Given the description of an element on the screen output the (x, y) to click on. 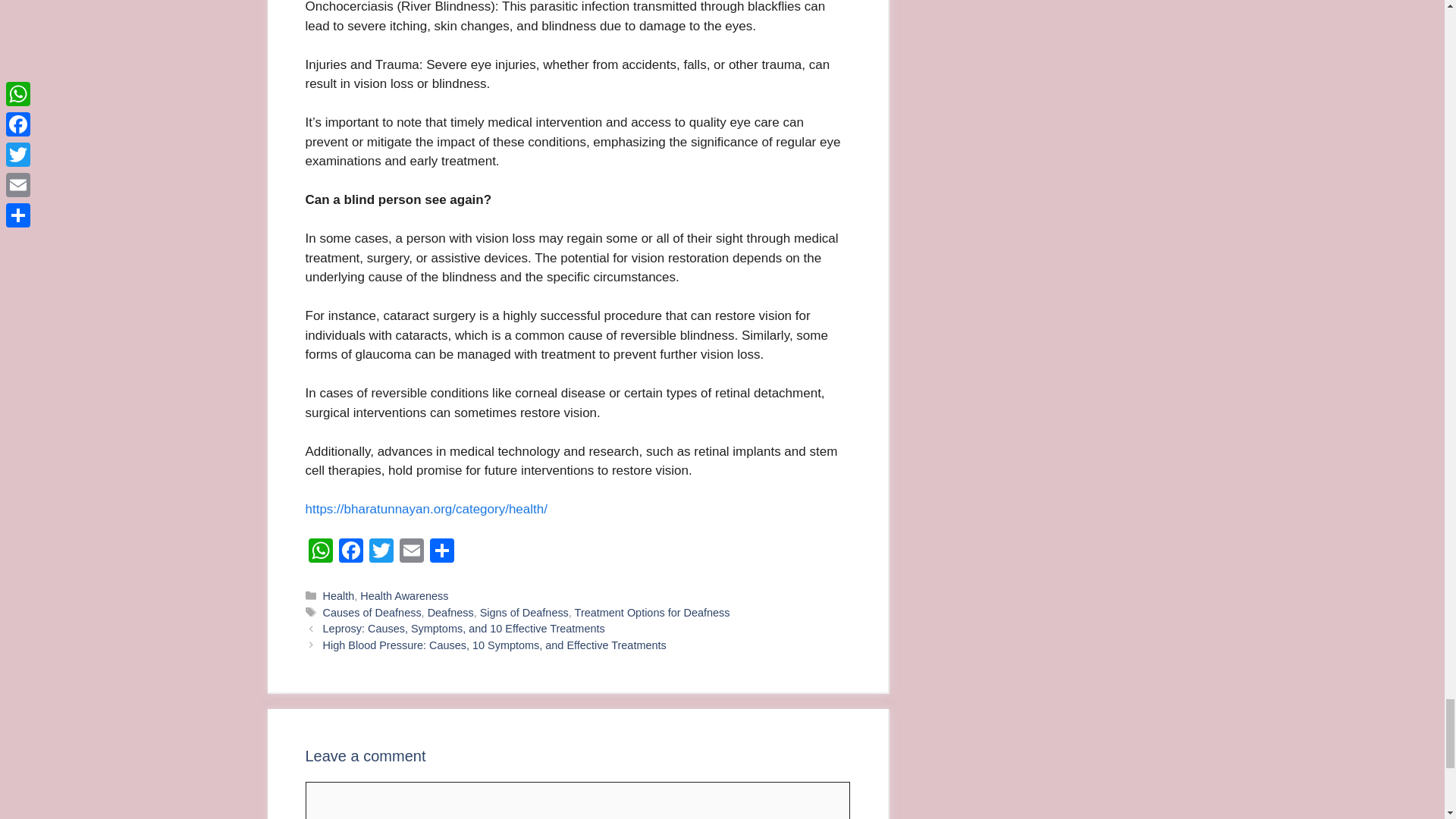
Facebook (349, 552)
Share (441, 552)
Twitter (380, 552)
Causes of Deafness (372, 612)
Facebook (349, 552)
Deafness (451, 612)
WhatsApp (319, 552)
Health (339, 595)
WhatsApp (319, 552)
Health Awareness (403, 595)
Leprosy: Causes, Symptoms, and 10 Effective Treatments (464, 628)
Twitter (380, 552)
Treatment Options for Deafness (652, 612)
Signs of Deafness (524, 612)
